Given the description of an element on the screen output the (x, y) to click on. 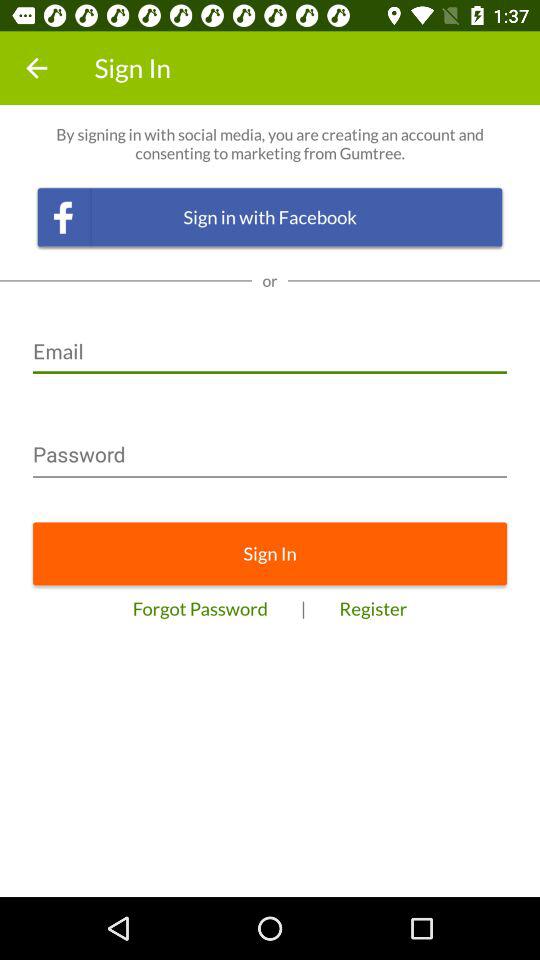
choose the register (373, 608)
